Given the description of an element on the screen output the (x, y) to click on. 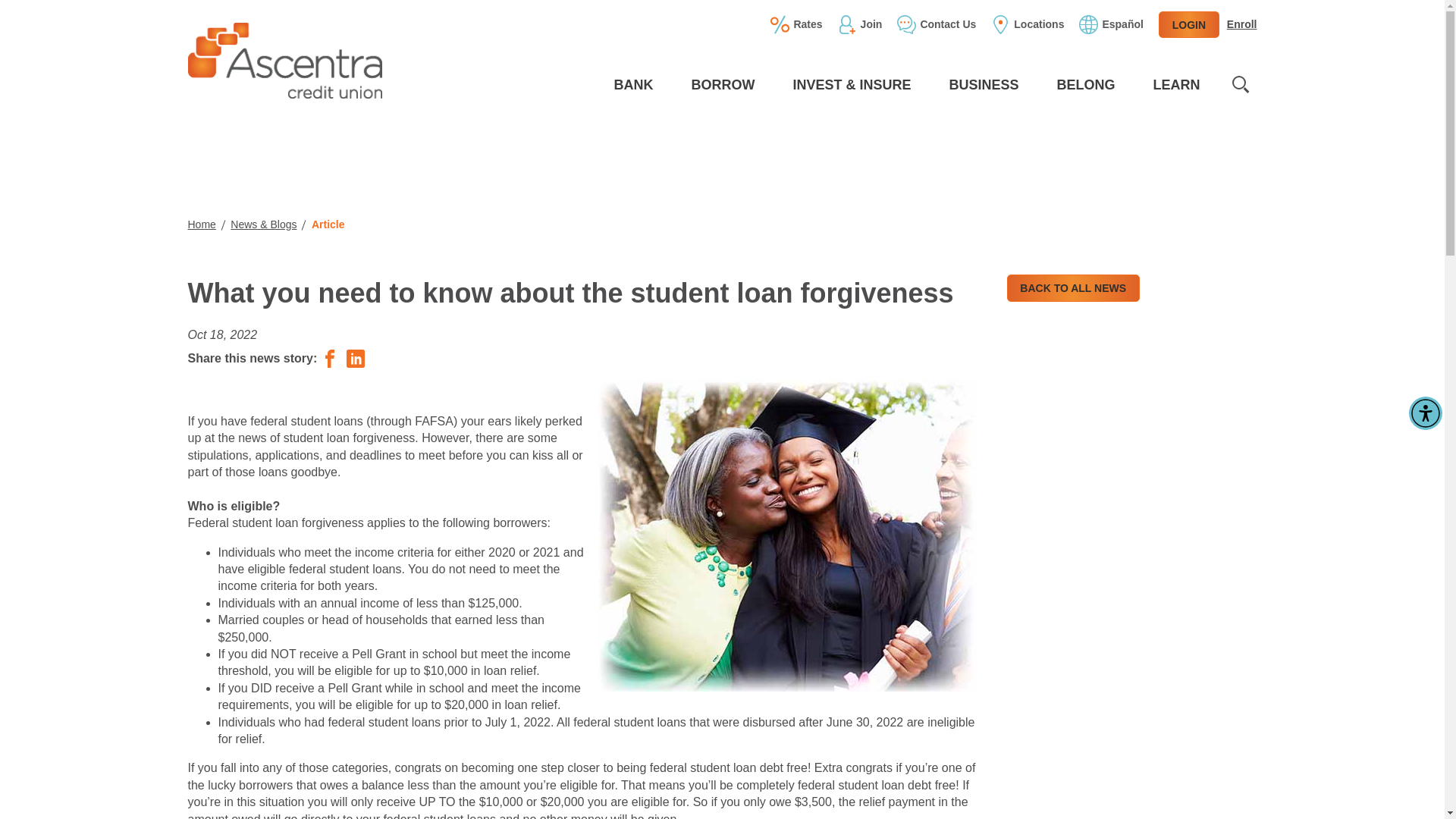
BORROW (721, 84)
Ascentra Home (284, 60)
Rates (796, 24)
Contact Us (935, 24)
BANK (633, 84)
LOGIN (1189, 24)
Join (860, 24)
Locations (1027, 24)
Accessibility Menu (1425, 412)
